Given the description of an element on the screen output the (x, y) to click on. 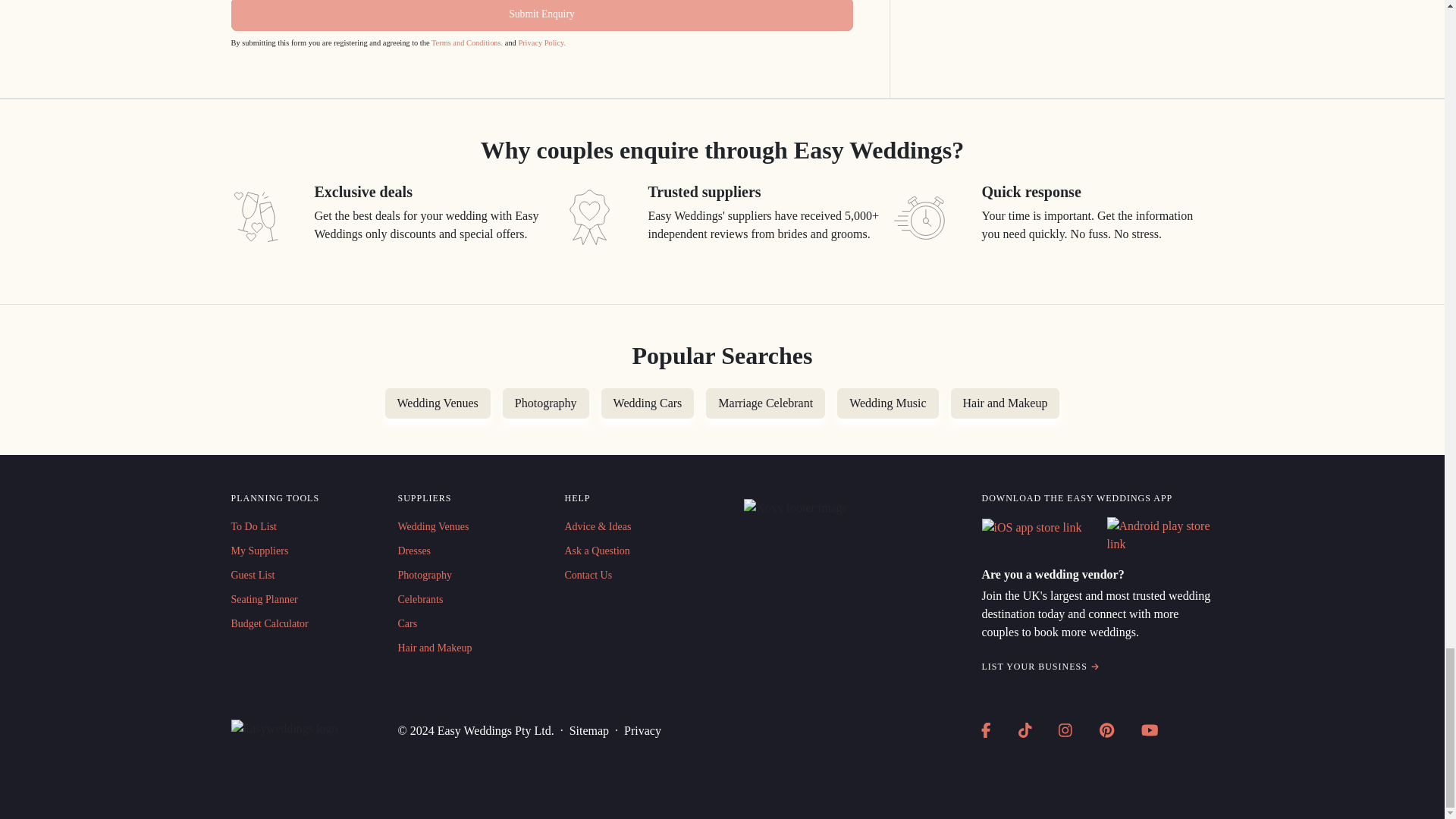
Quick response (922, 216)
Exclusive deals (255, 216)
iOS app store link (1031, 527)
Submit Enquiry (540, 15)
Android play store link (1160, 534)
giveaway (588, 216)
